Given the description of an element on the screen output the (x, y) to click on. 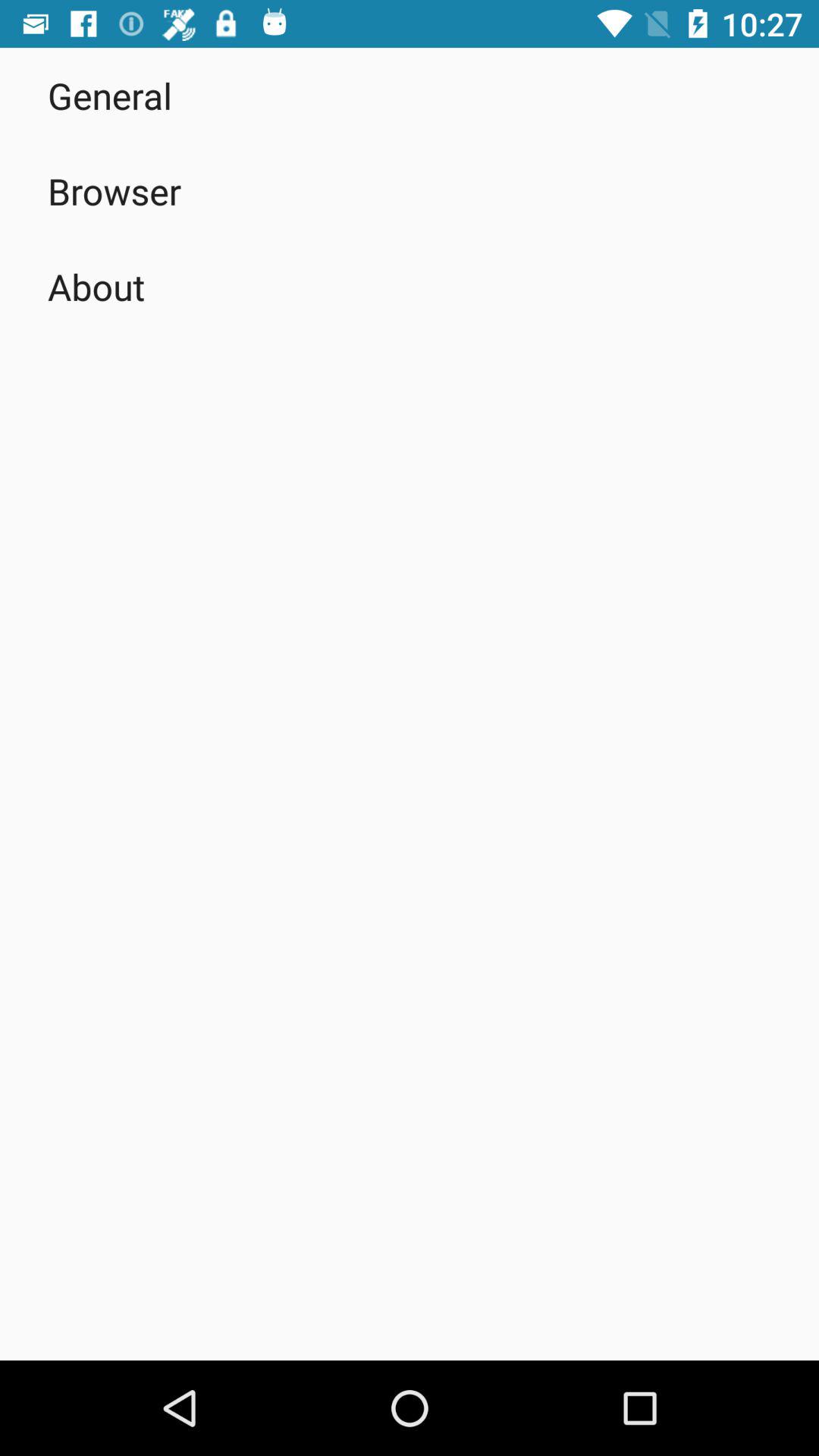
launch app below browser (96, 286)
